Given the description of an element on the screen output the (x, y) to click on. 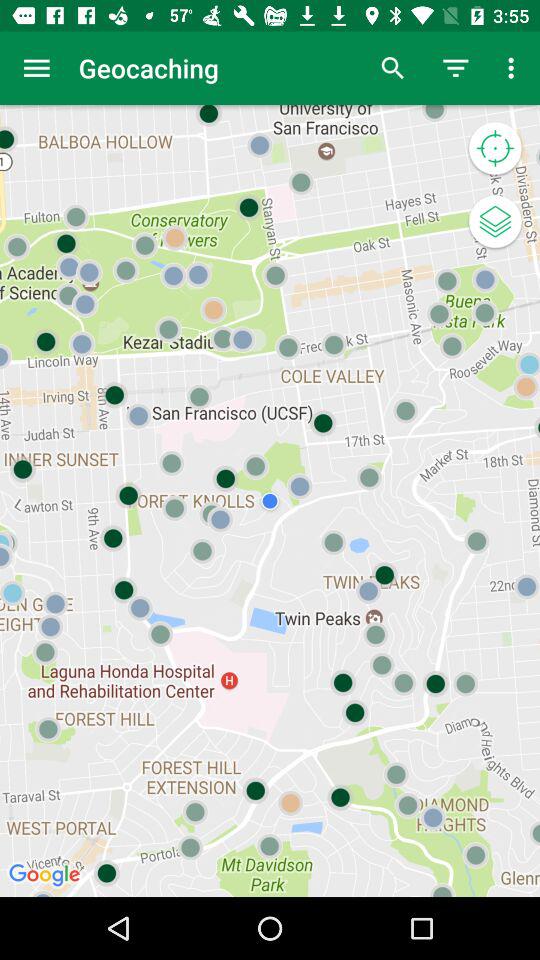
turn on the app to the right of geocaching icon (392, 67)
